Given the description of an element on the screen output the (x, y) to click on. 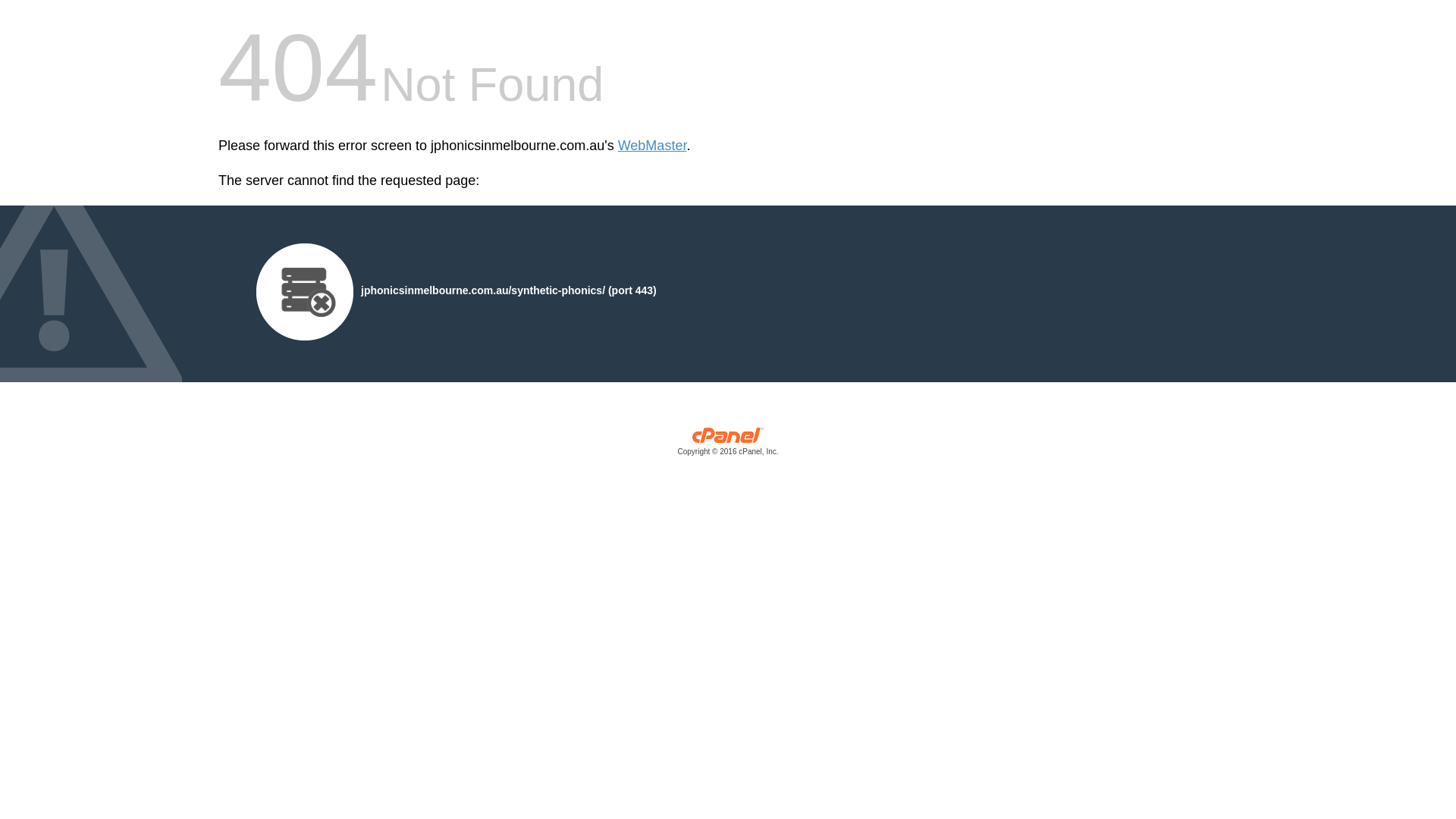
WebMaster Element type: text (652, 145)
